Given the description of an element on the screen output the (x, y) to click on. 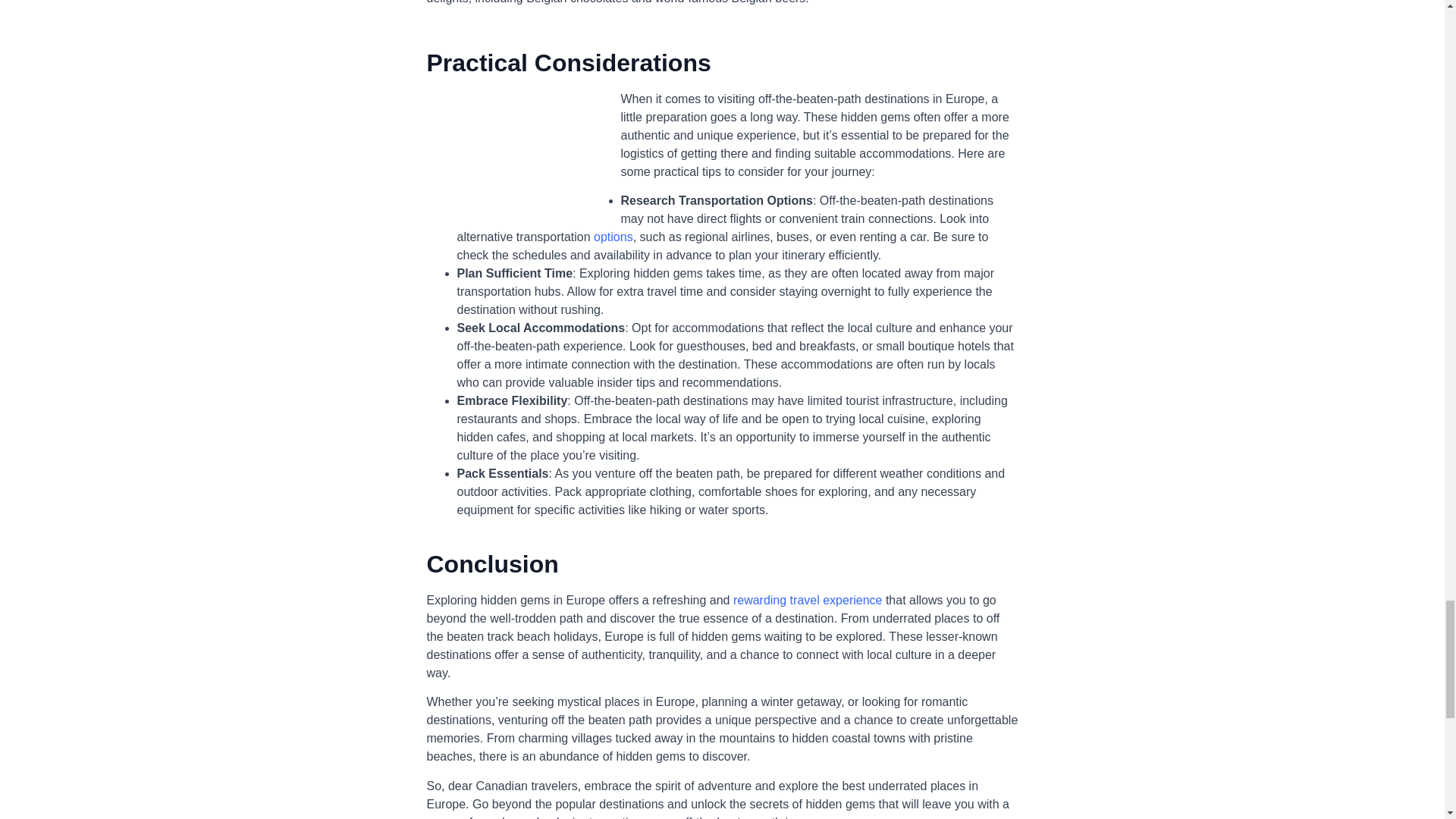
rewarding travel experience (807, 599)
options (613, 236)
